Given the description of an element on the screen output the (x, y) to click on. 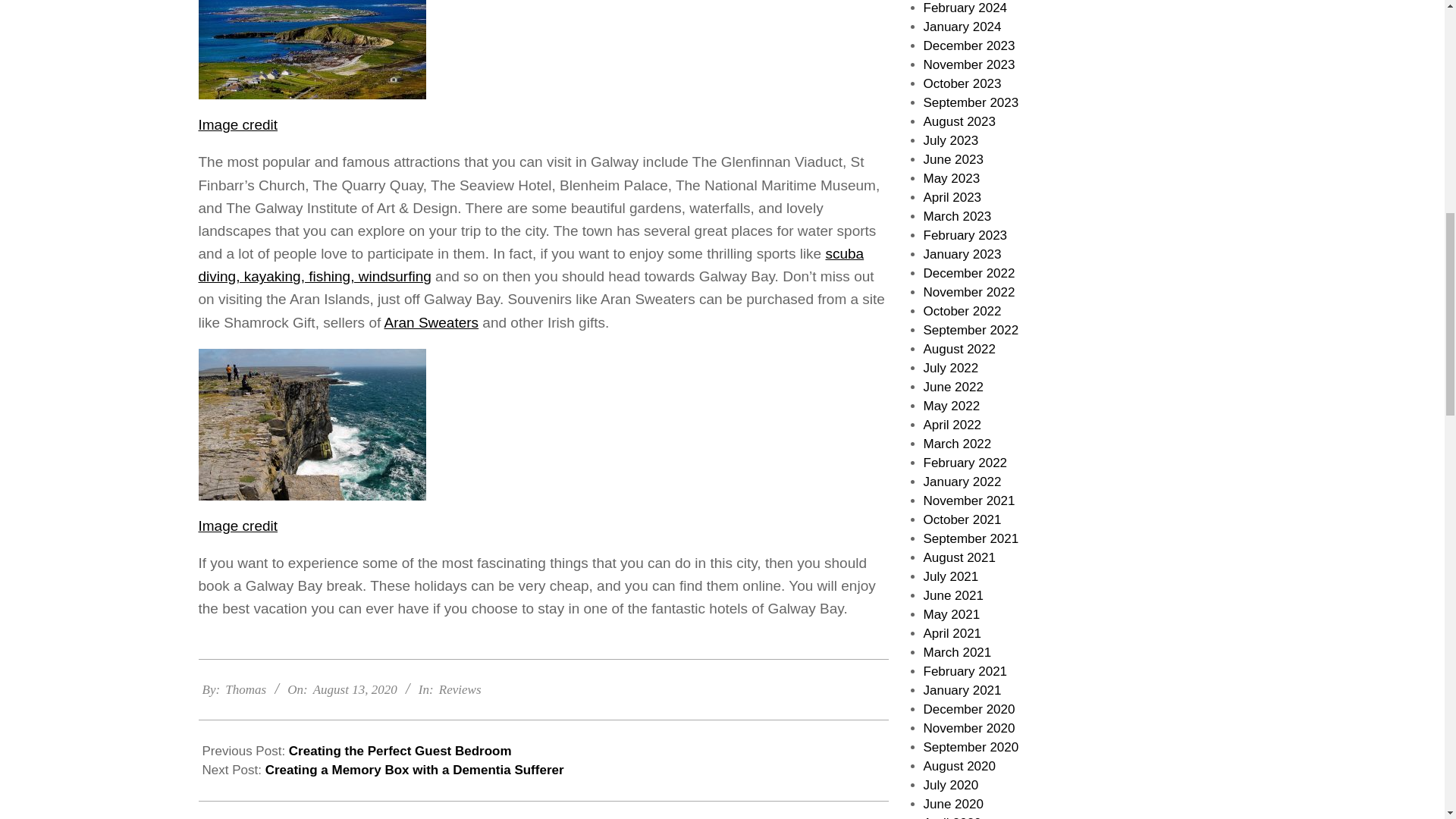
Thursday, August 13, 2020, 12:51 pm (355, 689)
scuba diving, kayaking, fishing, windsurfing (531, 264)
Creating the Perfect Guest Bedroom (400, 750)
Reviews (460, 689)
Image credit (238, 124)
Aran Sweaters (431, 322)
Posts by Thomas (245, 689)
Image credit (238, 525)
Creating a Memory Box with a Dementia Sufferer (414, 769)
Thomas (245, 689)
